Given the description of an element on the screen output the (x, y) to click on. 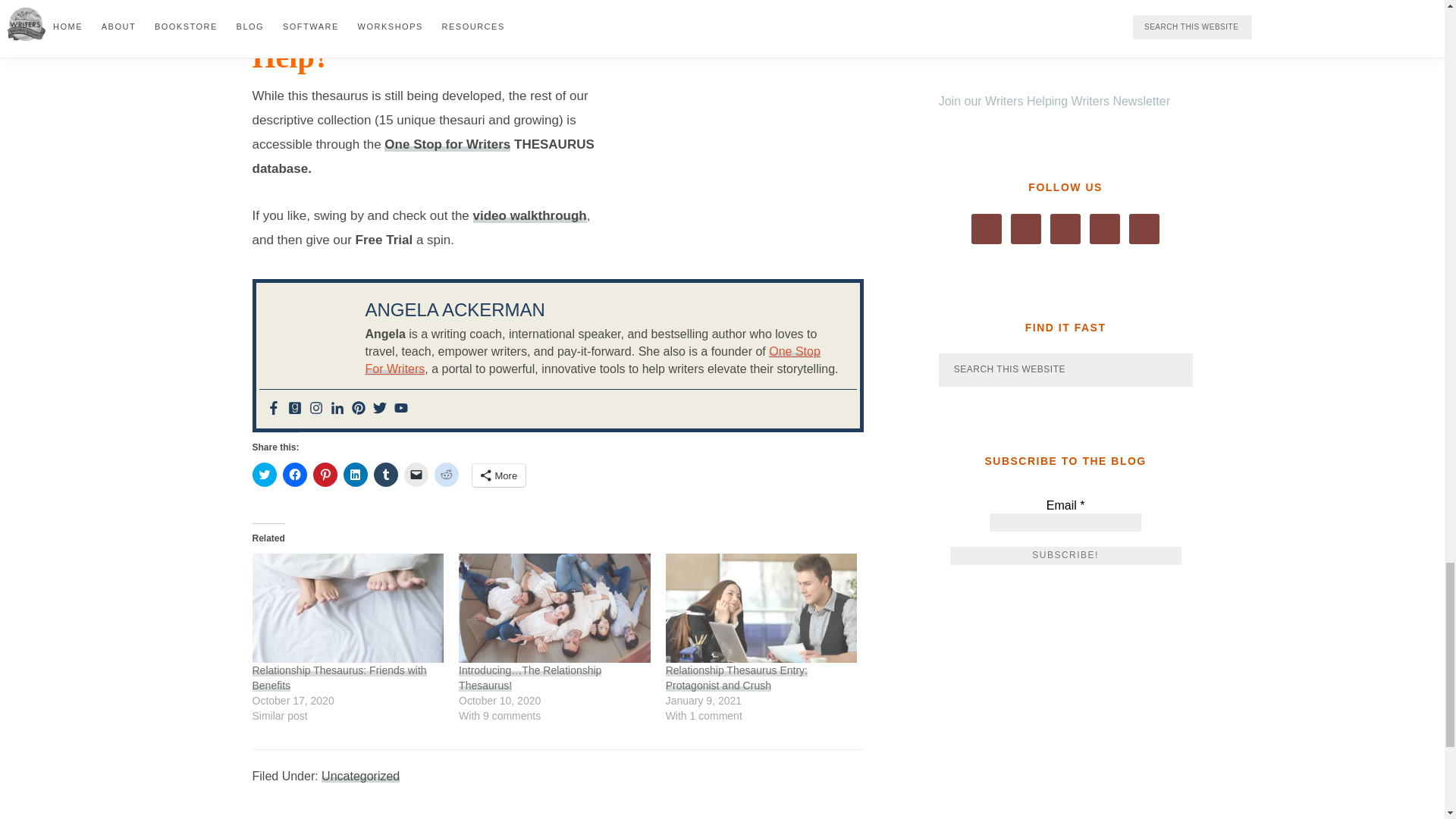
Click to share on Tumblr (384, 474)
Click to email a link to a friend (415, 474)
Click to share on Pinterest (324, 474)
Click to share on Facebook (293, 474)
Relationship Thesaurus: Friends with Benefits (347, 607)
Click to share on Twitter (263, 474)
Click to share on LinkedIn (354, 474)
Subscribe! (1065, 556)
Click to share on Reddit (445, 474)
